Given the description of an element on the screen output the (x, y) to click on. 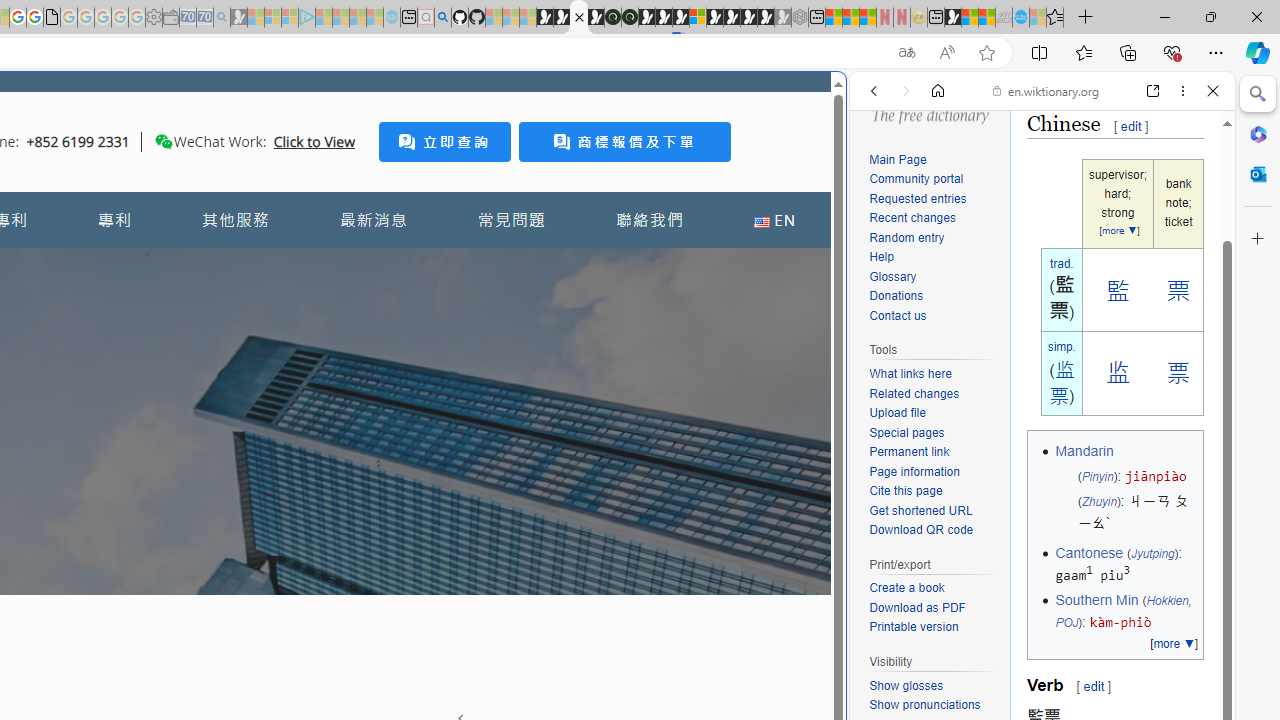
Get shortened URL (920, 510)
